Given the description of an element on the screen output the (x, y) to click on. 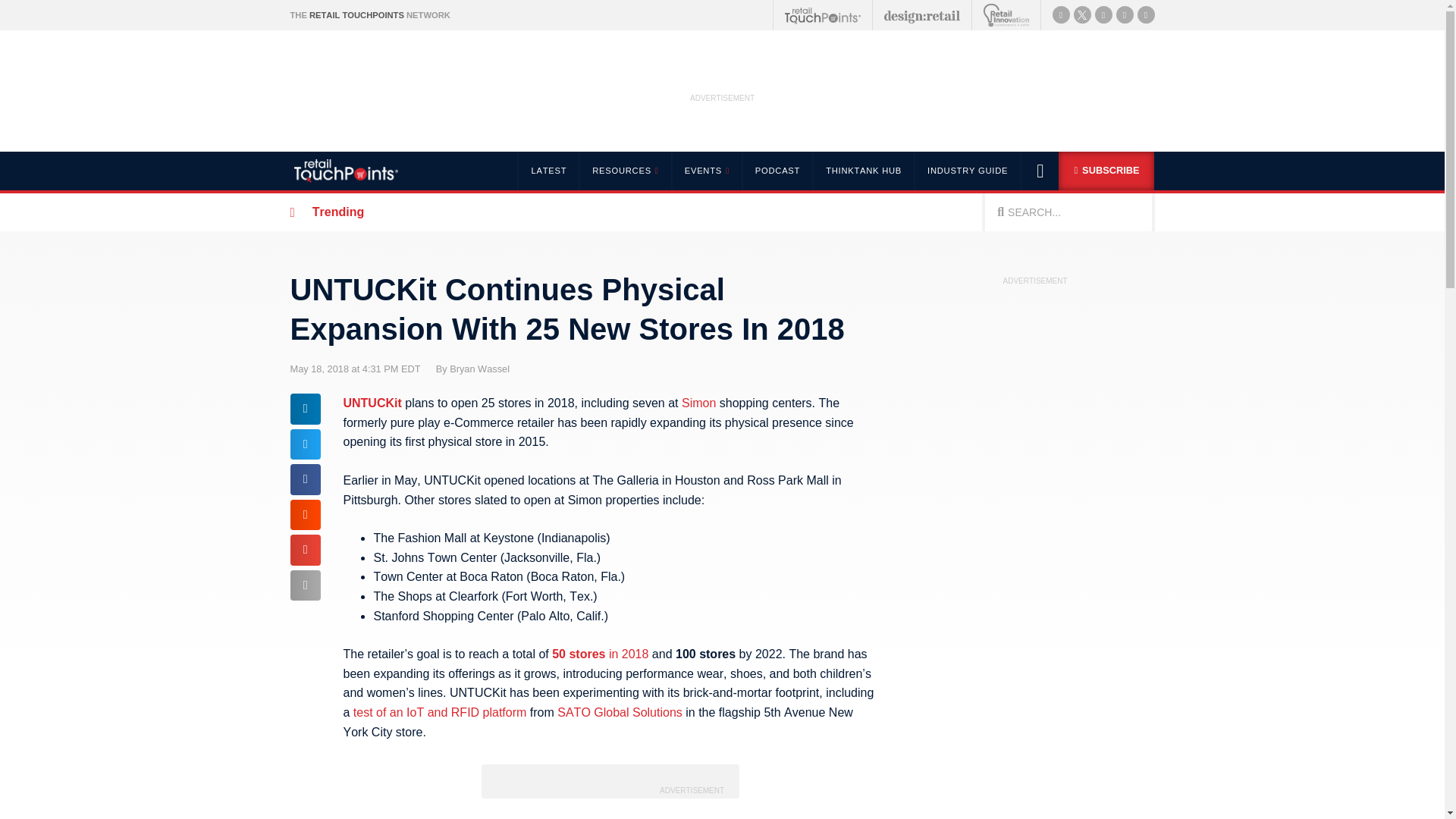
RESOURCES (623, 170)
EVENTS (706, 170)
PODCAST (776, 170)
INDUSTRY GUIDE (968, 170)
LATEST (547, 170)
THINKTANK HUB (863, 170)
